Given the description of an element on the screen output the (x, y) to click on. 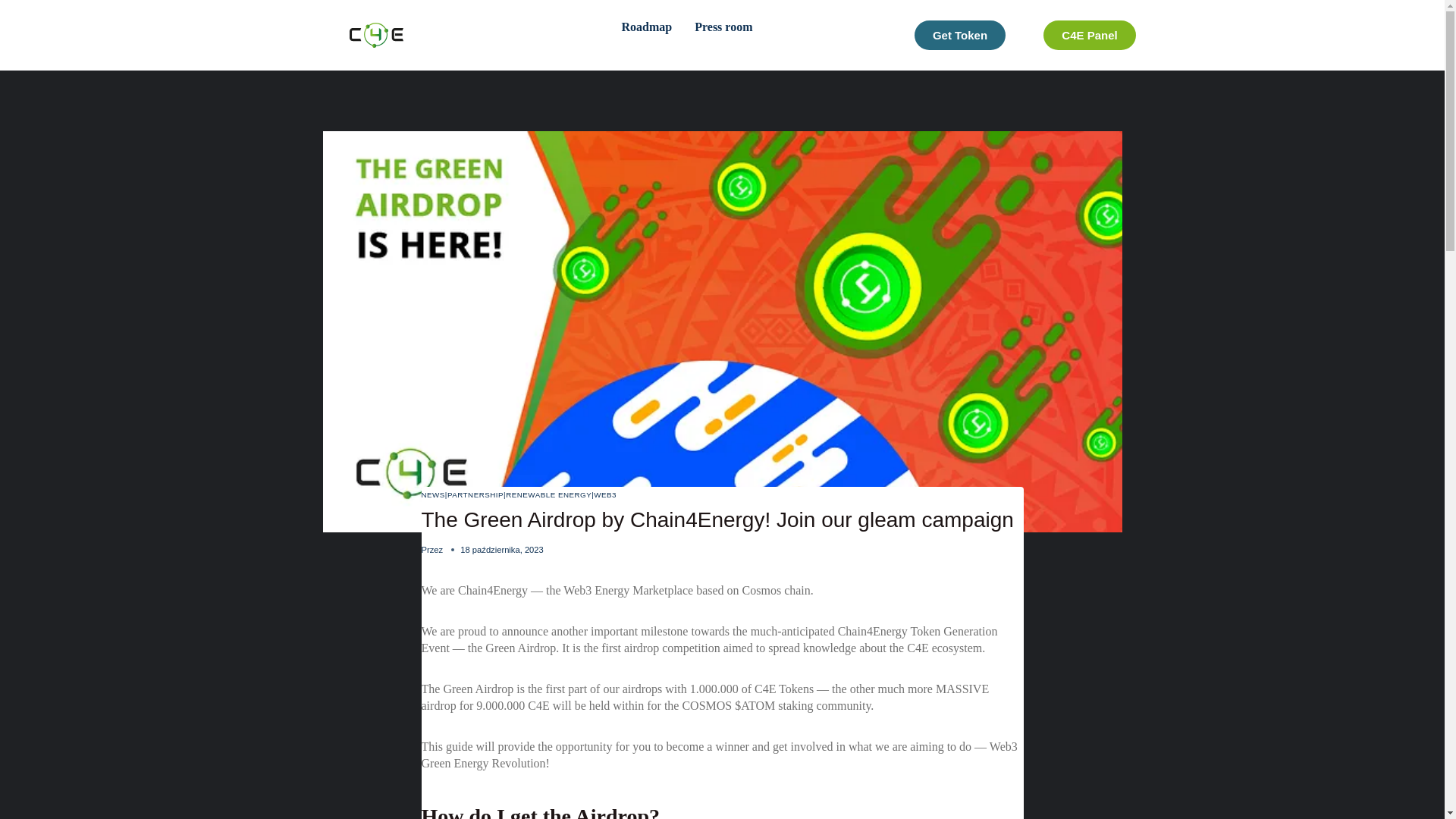
Get Token (960, 34)
Get Token (678, 35)
NEWS (959, 34)
C4E Panel (433, 494)
WEB3 (1089, 34)
PARTNERSHIP (604, 494)
RENEWABLE ENERGY (474, 494)
Roadmap (548, 494)
C4E Panel (641, 26)
Press room (1089, 34)
